Given the description of an element on the screen output the (x, y) to click on. 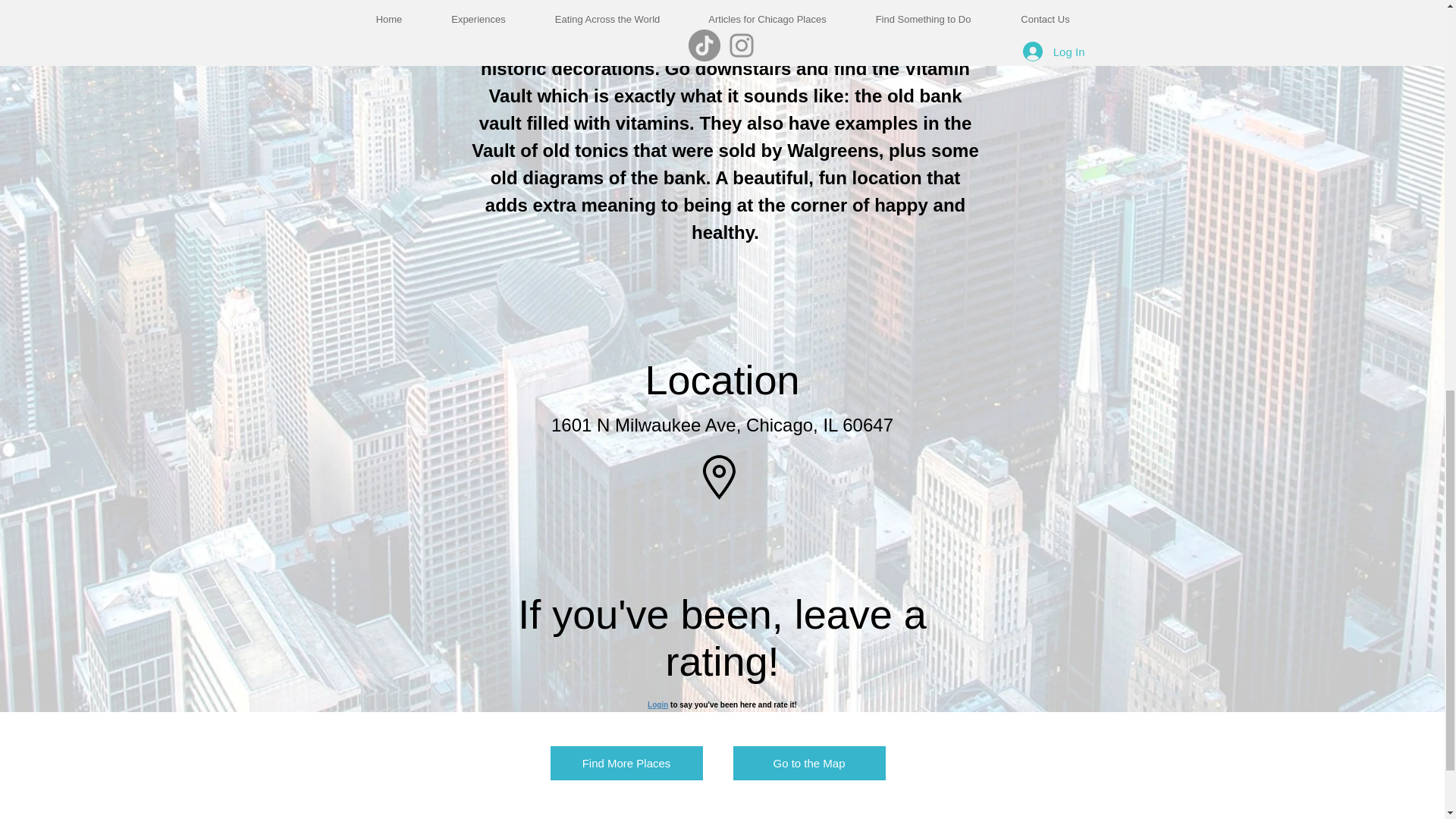
Find More Places (626, 763)
Go to the Map (808, 763)
